Given the description of an element on the screen output the (x, y) to click on. 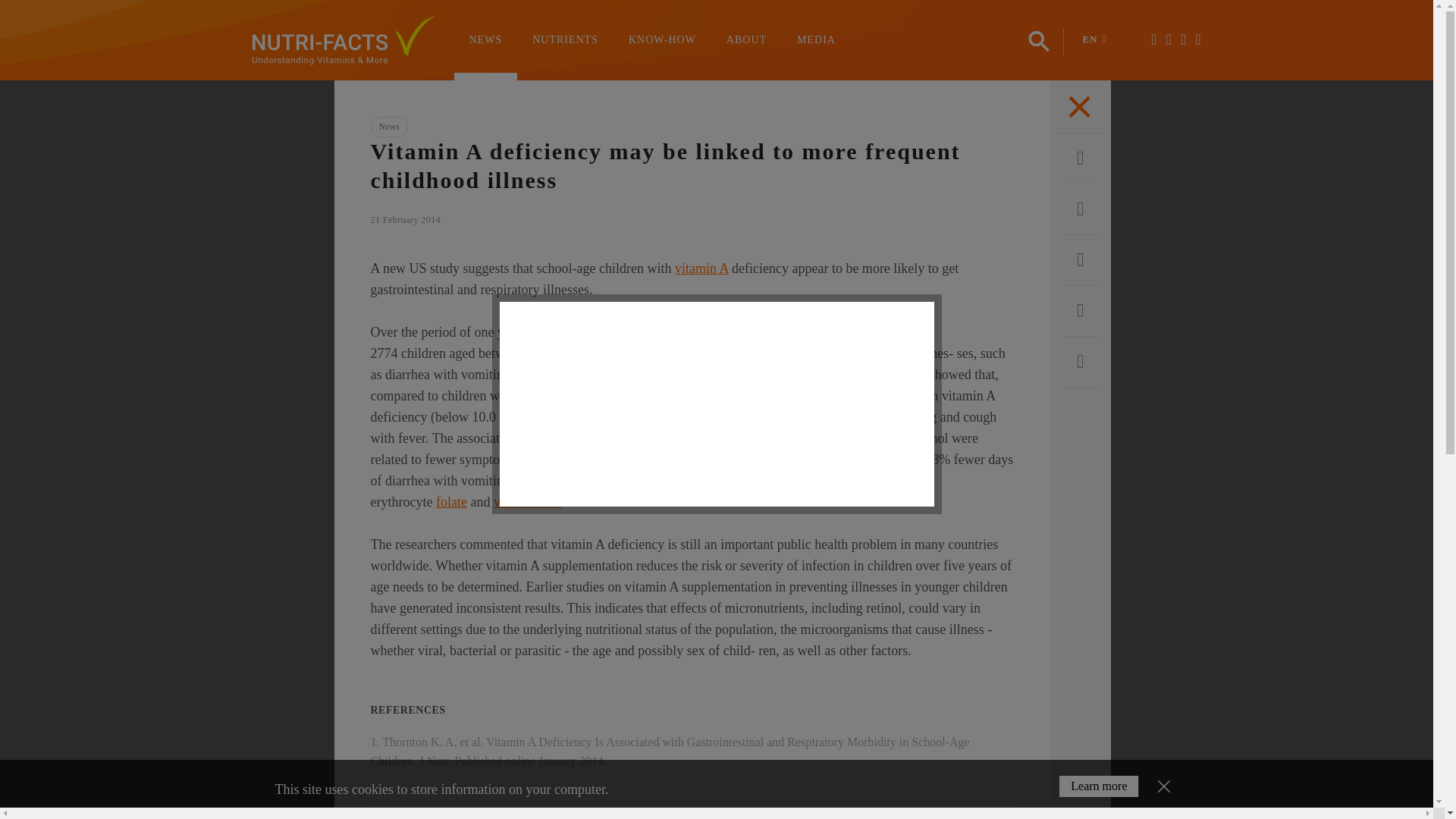
LinkedIn (1079, 361)
Logo (343, 40)
Print (1079, 260)
Email (1079, 311)
Facebook (1079, 158)
Twitter (1079, 209)
